Given the description of an element on the screen output the (x, y) to click on. 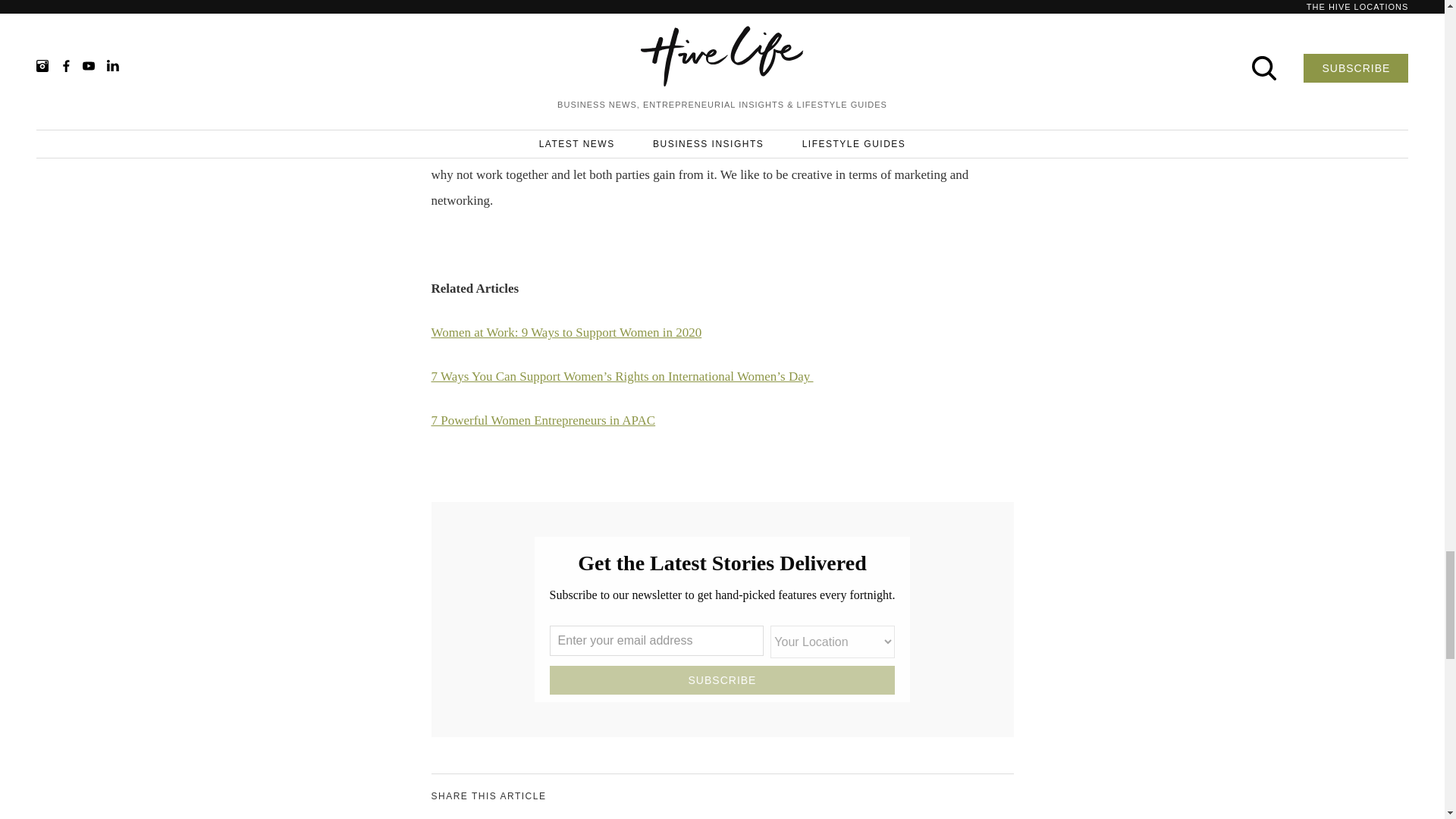
7 Powerful Women Entrepreneurs in APAC (542, 420)
Subscribe (722, 679)
Women at Work: 9 Ways to Support Women in 2020 (565, 332)
Subscribe (722, 679)
